Given the description of an element on the screen output the (x, y) to click on. 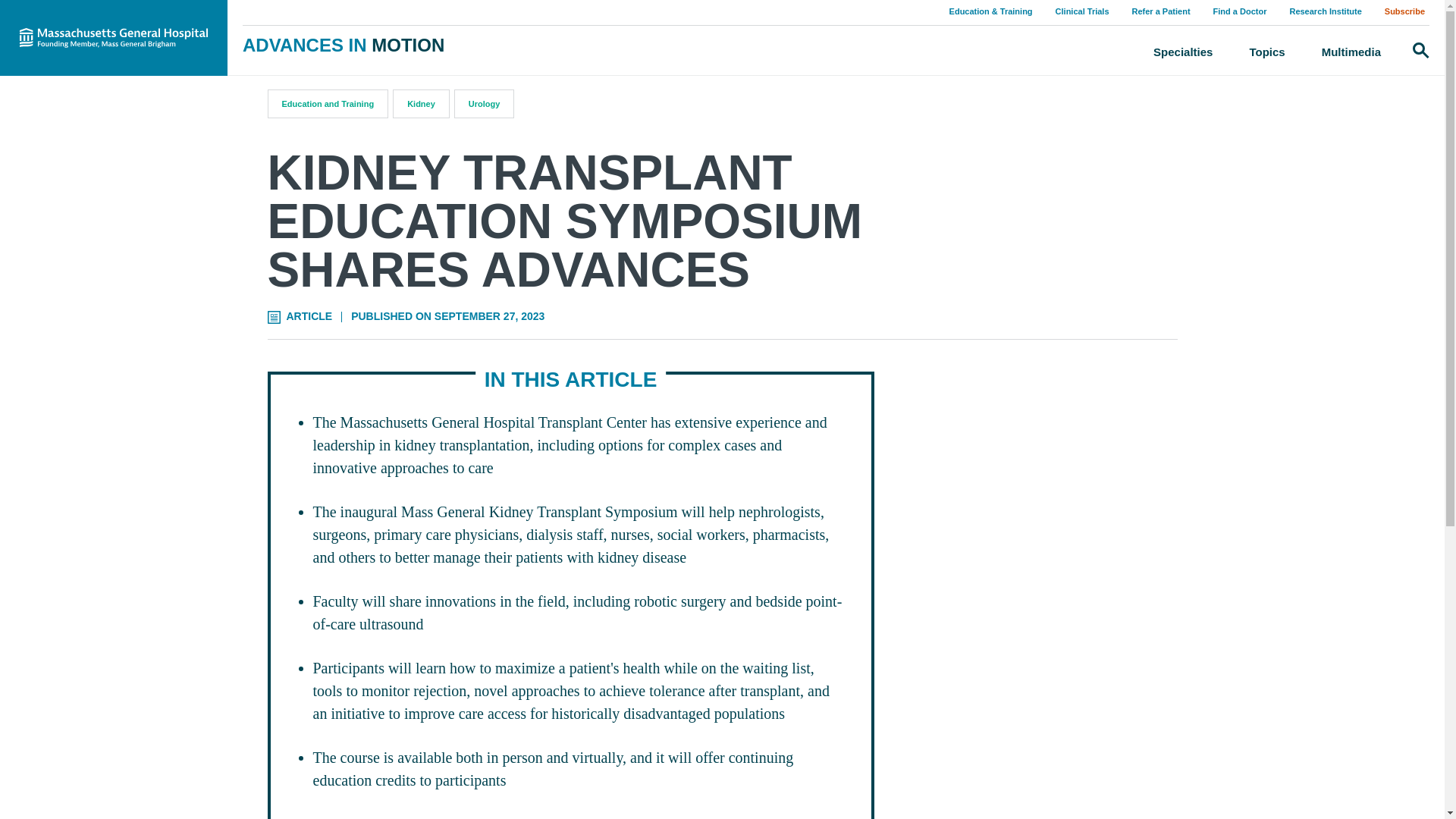
Find a Doctor (1239, 11)
Specialties (1182, 51)
Skip to content (15, 15)
ADVANCES IN MOTION (343, 45)
Refer a Patient (1160, 11)
Massachusetts General Hospital (113, 38)
Subscribe (1404, 11)
Clinical Trials (1082, 11)
Topics (1266, 51)
Research Institute (1324, 11)
